Given the description of an element on the screen output the (x, y) to click on. 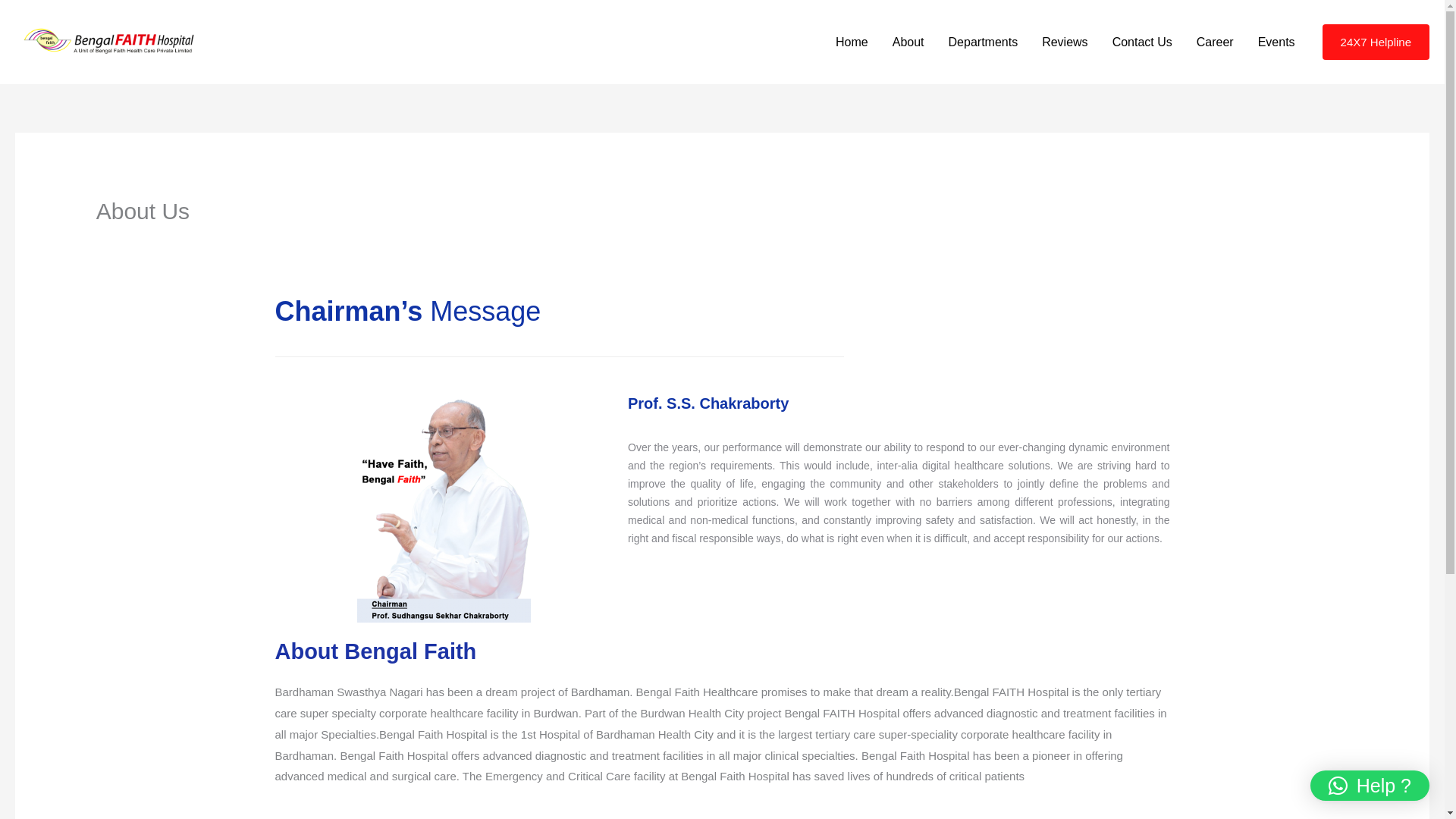
Departments (983, 41)
Events (1276, 41)
Home (852, 41)
About (908, 41)
24X7 Helpline (1375, 41)
Career (1215, 41)
Help ? (1369, 785)
Reviews (1064, 41)
Contact Us (1142, 41)
